Given the description of an element on the screen output the (x, y) to click on. 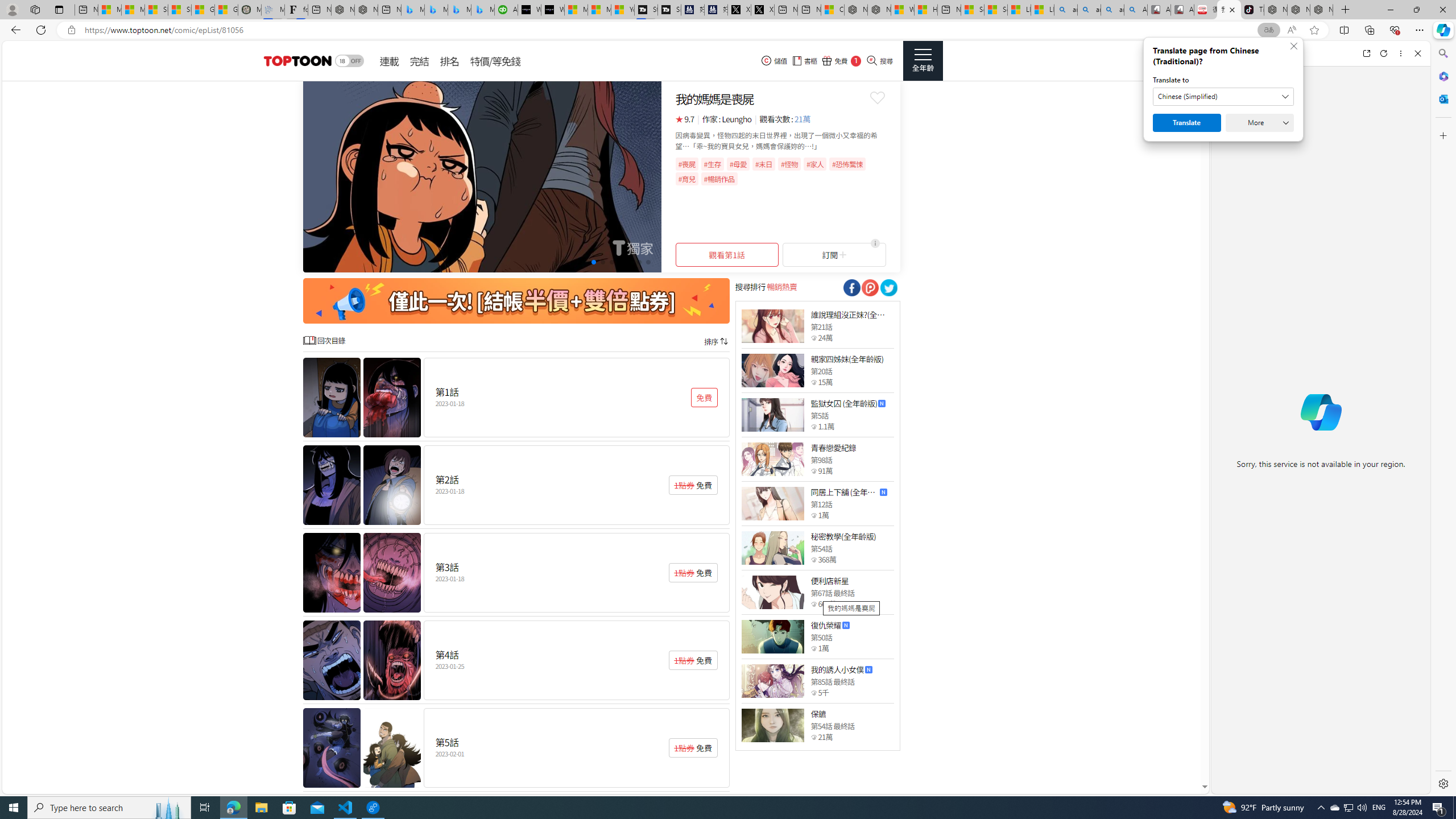
Accounting Software for Accountants, CPAs and Bookkeepers (505, 9)
Gilma and Hector both pose tropical trouble for Hawaii (226, 9)
Microsoft Bing Travel - Shangri-La Hotel Bangkok (482, 9)
